Given the description of an element on the screen output the (x, y) to click on. 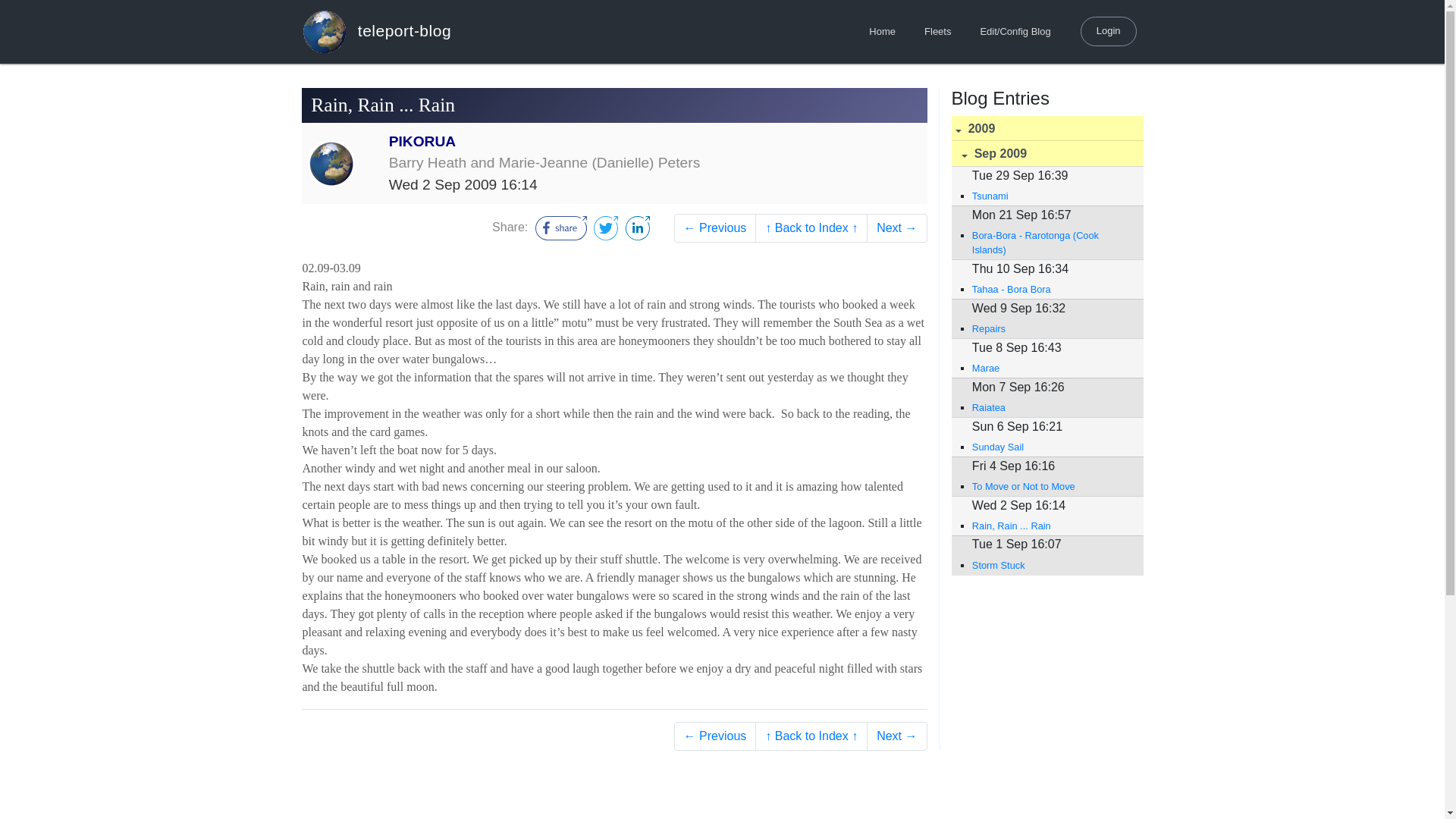
Raiatea (1050, 407)
To Move or Not to Move (1050, 486)
teleport-blog (376, 31)
Storm Stuck (1050, 564)
Repairs (1050, 328)
Rain, Rain ... Rain (1050, 525)
2009 (1046, 128)
Sep 2009 (1046, 153)
Marae (1050, 368)
Login (1108, 30)
Tsunami (1050, 196)
Tahaa - Bora Bora (1050, 288)
Sunday Sail (1050, 446)
